Given the description of an element on the screen output the (x, y) to click on. 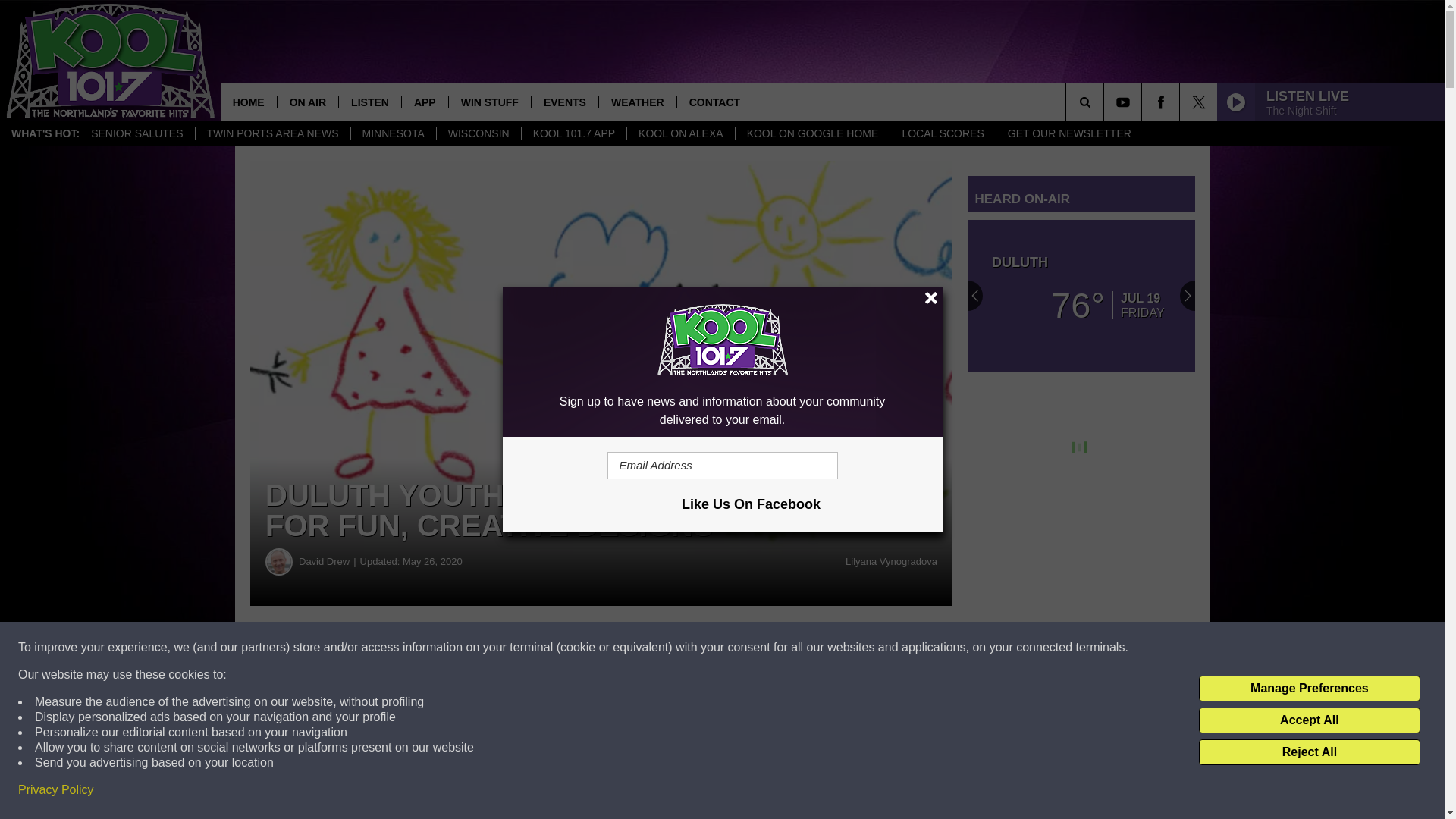
Reject All (1309, 751)
ON AIR (306, 102)
TWIN PORTS AREA NEWS (272, 133)
APP (424, 102)
SEARCH (1106, 102)
SENIOR SALUTES (136, 133)
LISTEN (369, 102)
KOOL 101.7 APP (573, 133)
Email Address (722, 465)
WIN STUFF (489, 102)
SEARCH (1106, 102)
KOOL ON ALEXA (680, 133)
KOOL ON GOOGLE HOME (812, 133)
Privacy Policy (55, 789)
HOME (248, 102)
